Given the description of an element on the screen output the (x, y) to click on. 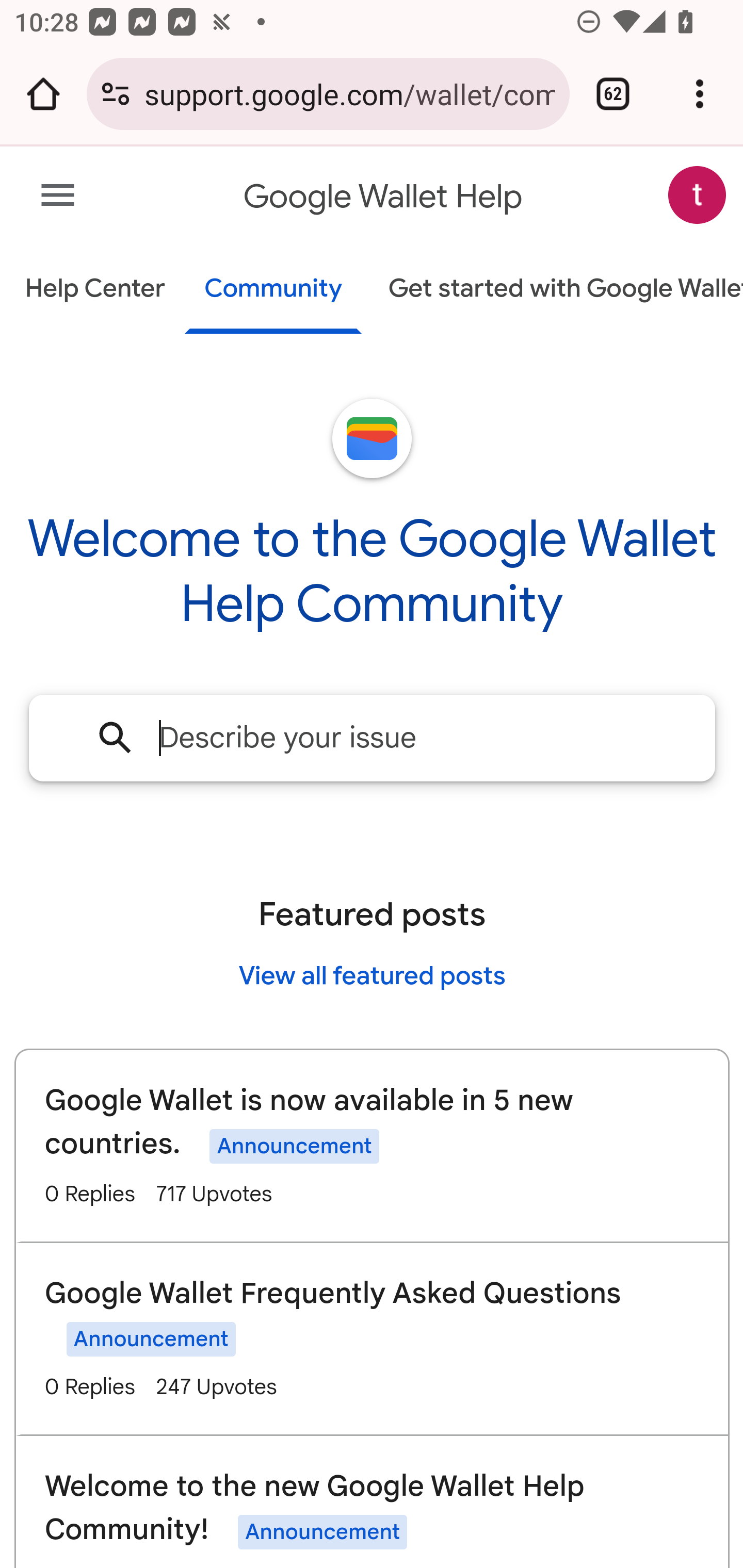
Open the home page (43, 93)
Connection is secure (115, 93)
Switch or close tabs (612, 93)
Customize and control Google Chrome (699, 93)
Main menu (58, 195)
Google Wallet Help (383, 197)
Help Center (94, 289)
Community (273, 289)
Get started with Google Wallet (555, 289)
Search (116, 736)
View all featured posts (371, 975)
